Given the description of an element on the screen output the (x, y) to click on. 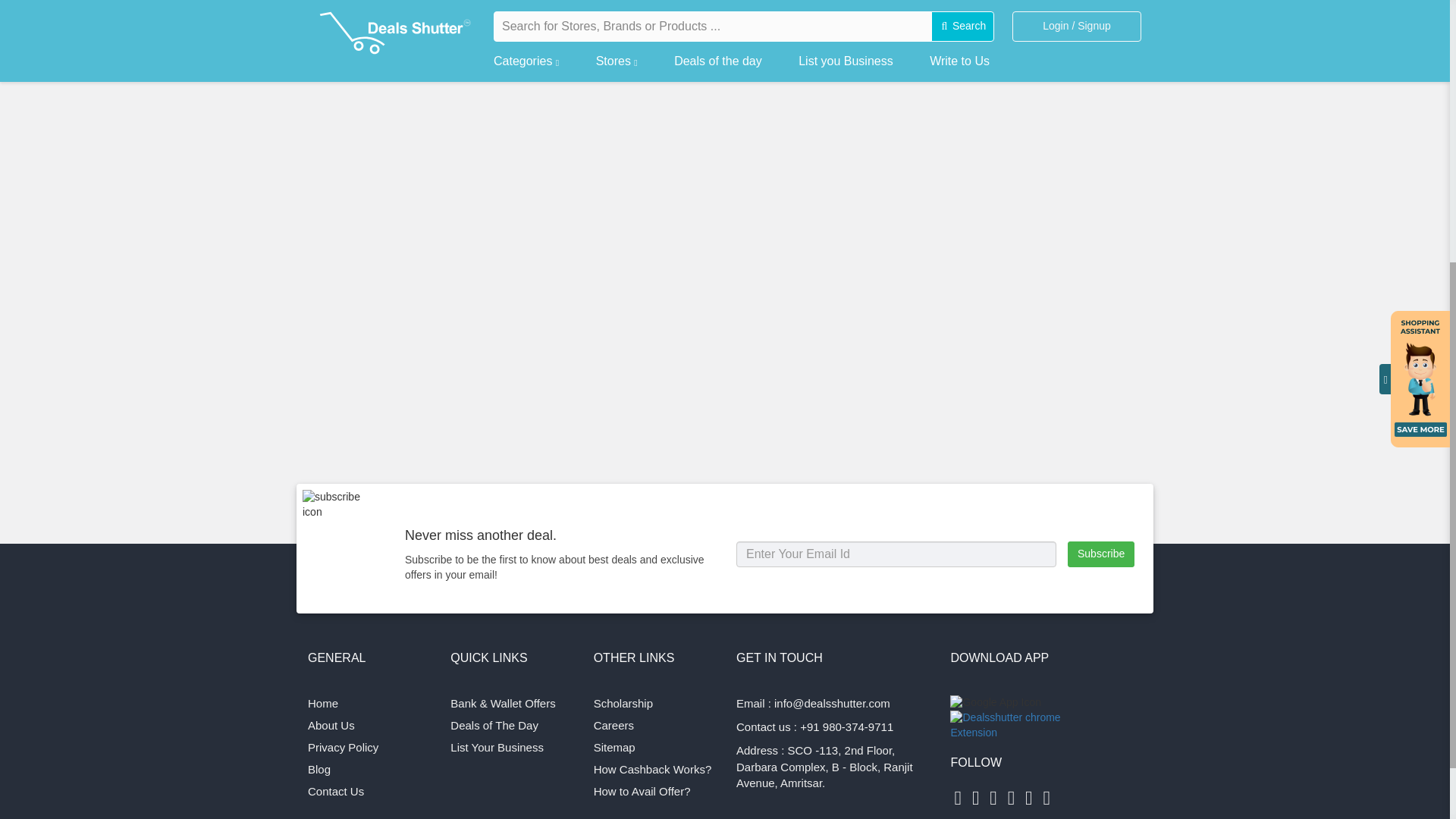
Subscribe (1100, 554)
